Given the description of an element on the screen output the (x, y) to click on. 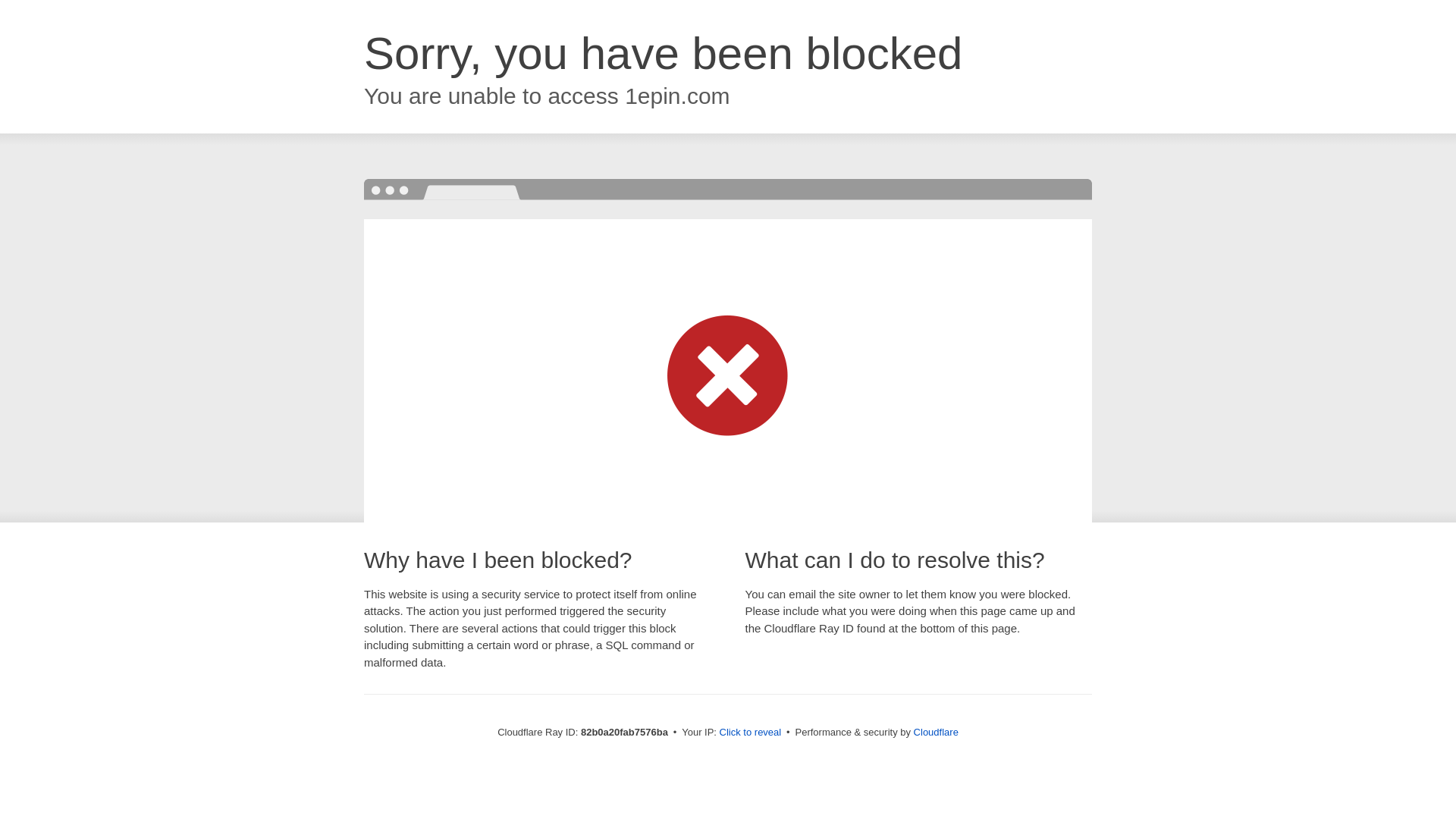
Cloudflare Element type: text (935, 731)
Click to reveal Element type: text (750, 732)
